Given the description of an element on the screen output the (x, y) to click on. 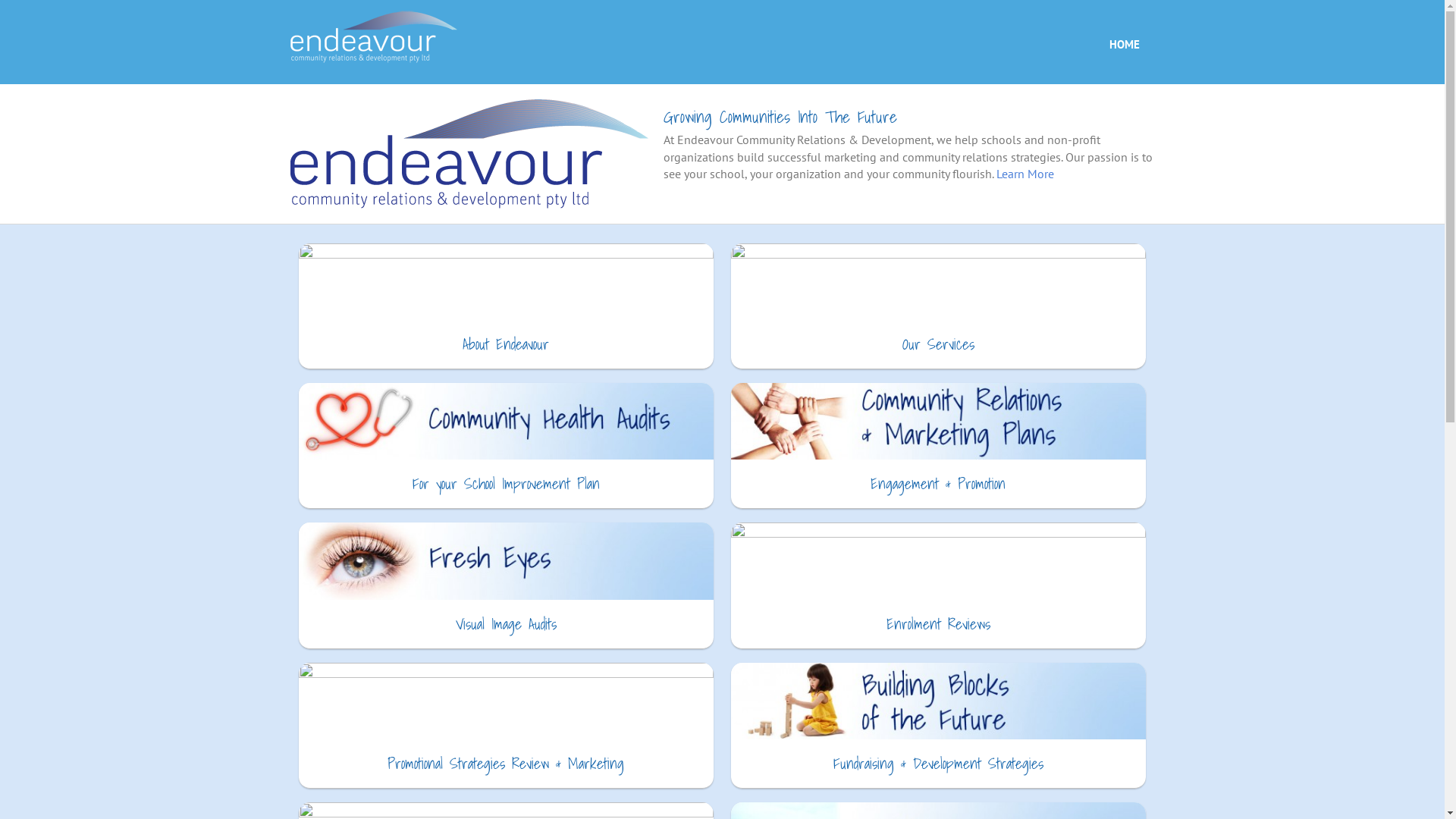
Fundraising & Development Strategies Element type: text (938, 763)
Endeavour Community Relations Element type: hover (372, 33)
Learn More Element type: text (1025, 173)
Promotional Strategies Review & Marketing Element type: text (505, 763)
Our Services Element type: text (938, 344)
For your School Improvement Plan Element type: text (505, 483)
Enrolment Reviews Element type: text (938, 623)
Visual Image Audits Element type: text (505, 623)
HOME Element type: text (1123, 42)
About Endeavour Element type: text (505, 344)
Engagement & Promotion Element type: text (938, 483)
